Given the description of an element on the screen output the (x, y) to click on. 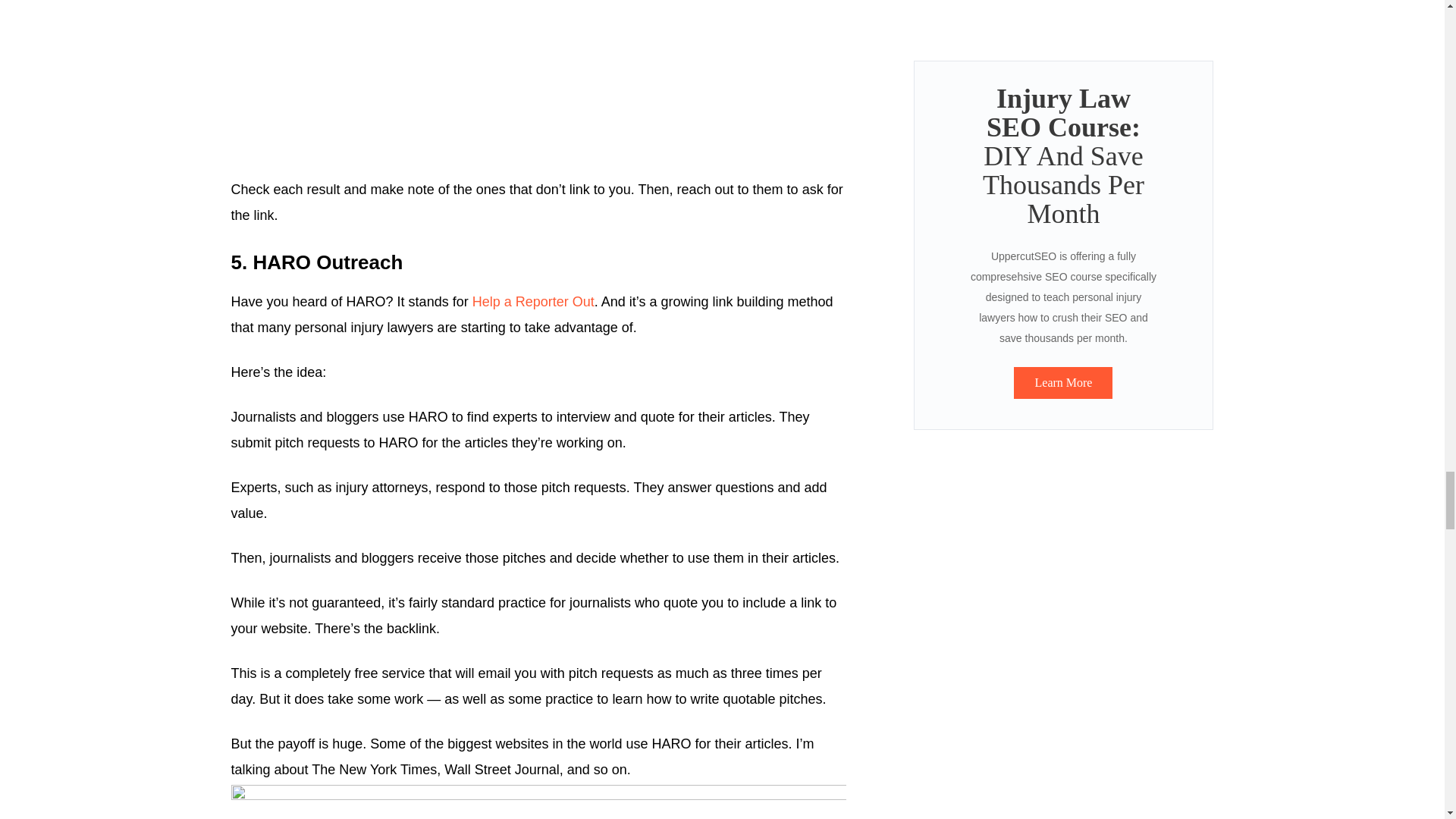
Help a Reporter Out (532, 301)
